Given the description of an element on the screen output the (x, y) to click on. 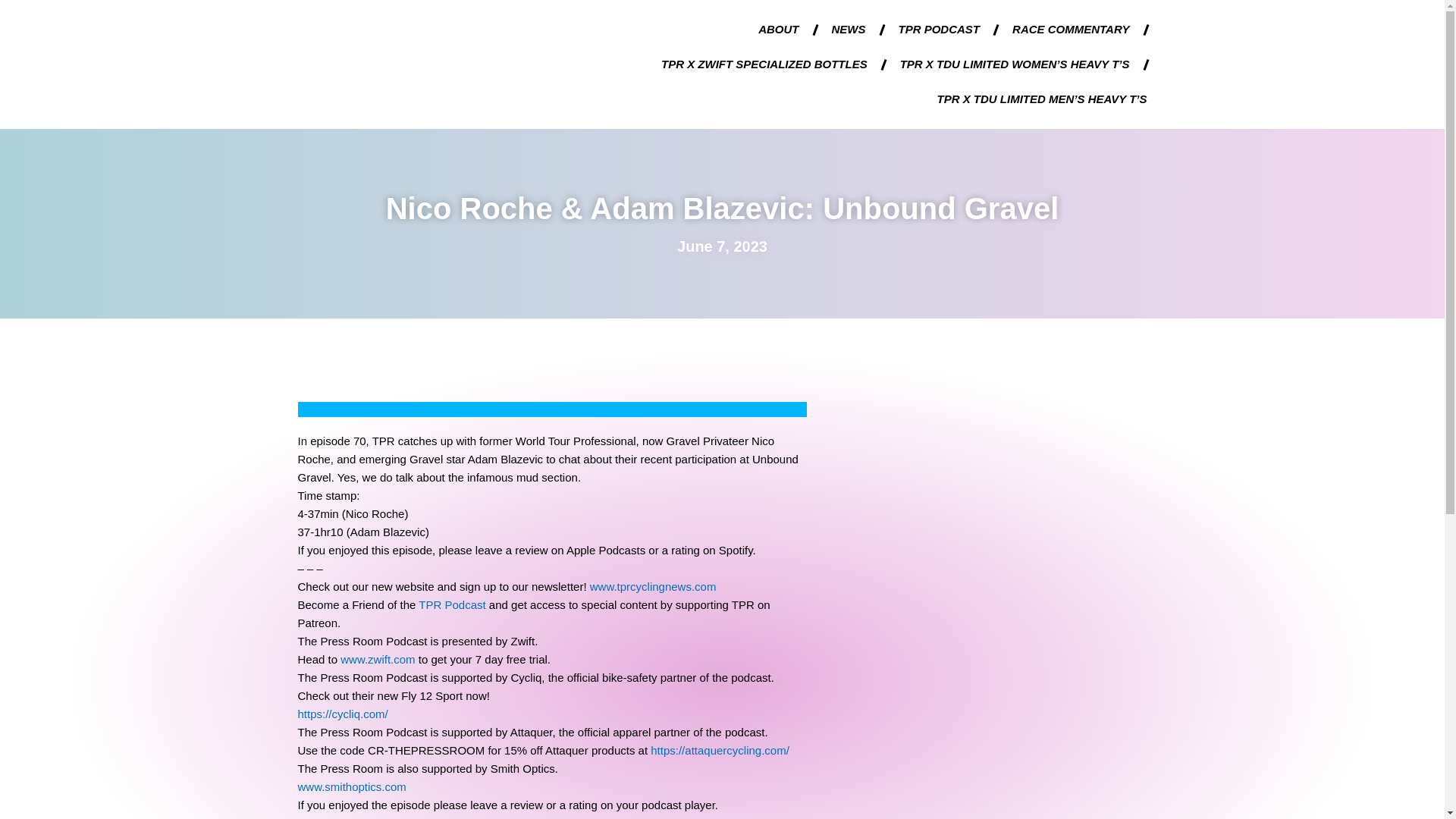
TPR X ZWIFT SPECIALIZED BOTTLES (764, 63)
TPR Podcast (451, 604)
www.tprcyclingnews.com (652, 585)
TPR PODCAST (938, 29)
ABOUT (777, 29)
www.zwift.com (375, 658)
NEWS (848, 29)
RACE COMMENTARY (1070, 29)
www.smithoptics.com (351, 786)
